Given the description of an element on the screen output the (x, y) to click on. 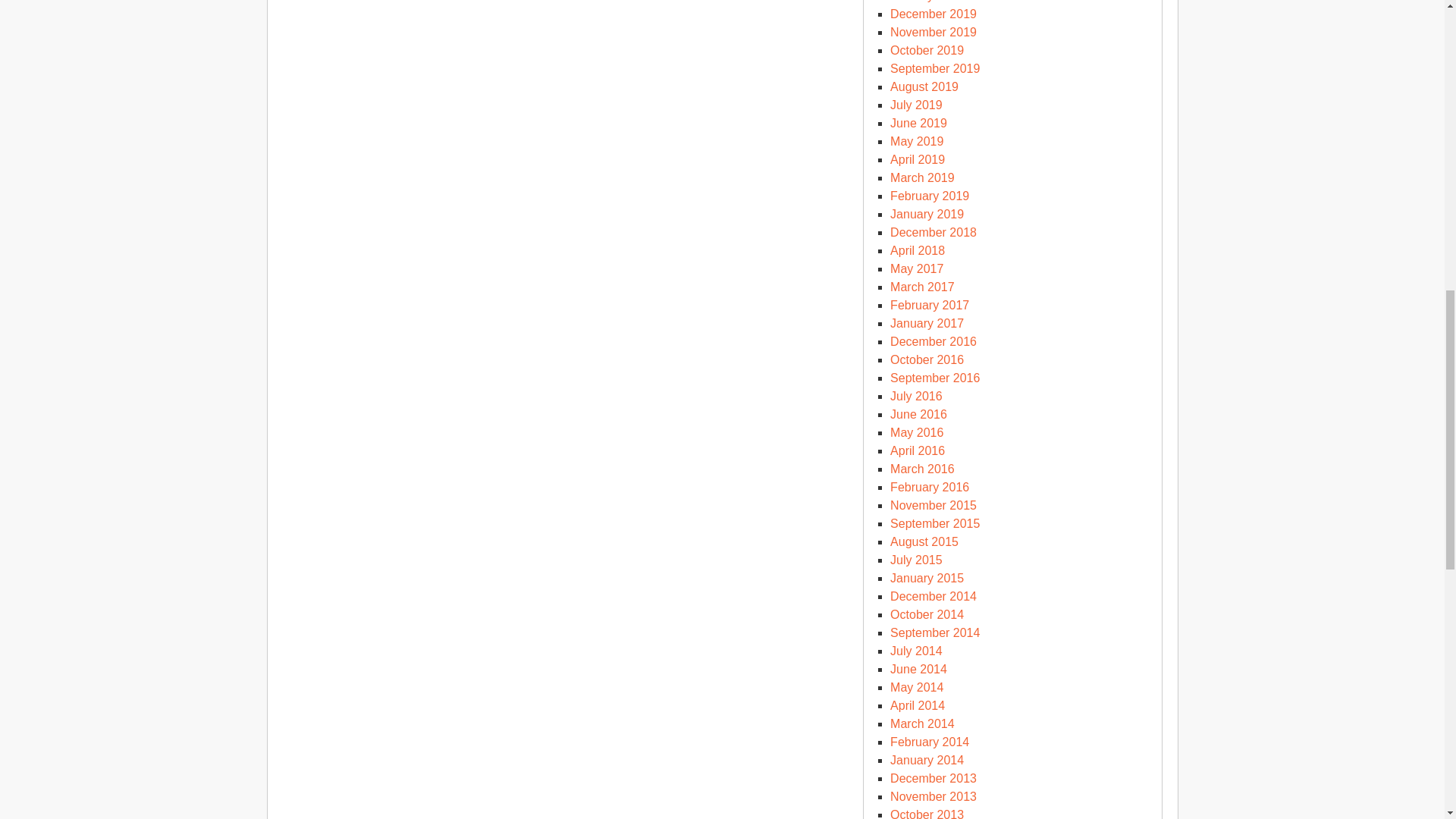
July 2019 (915, 104)
October 2019 (926, 50)
April 2019 (916, 159)
December 2019 (932, 13)
May 2019 (916, 141)
September 2019 (934, 68)
June 2019 (918, 123)
November 2019 (932, 31)
January 2020 (926, 1)
August 2019 (923, 86)
